Given the description of an element on the screen output the (x, y) to click on. 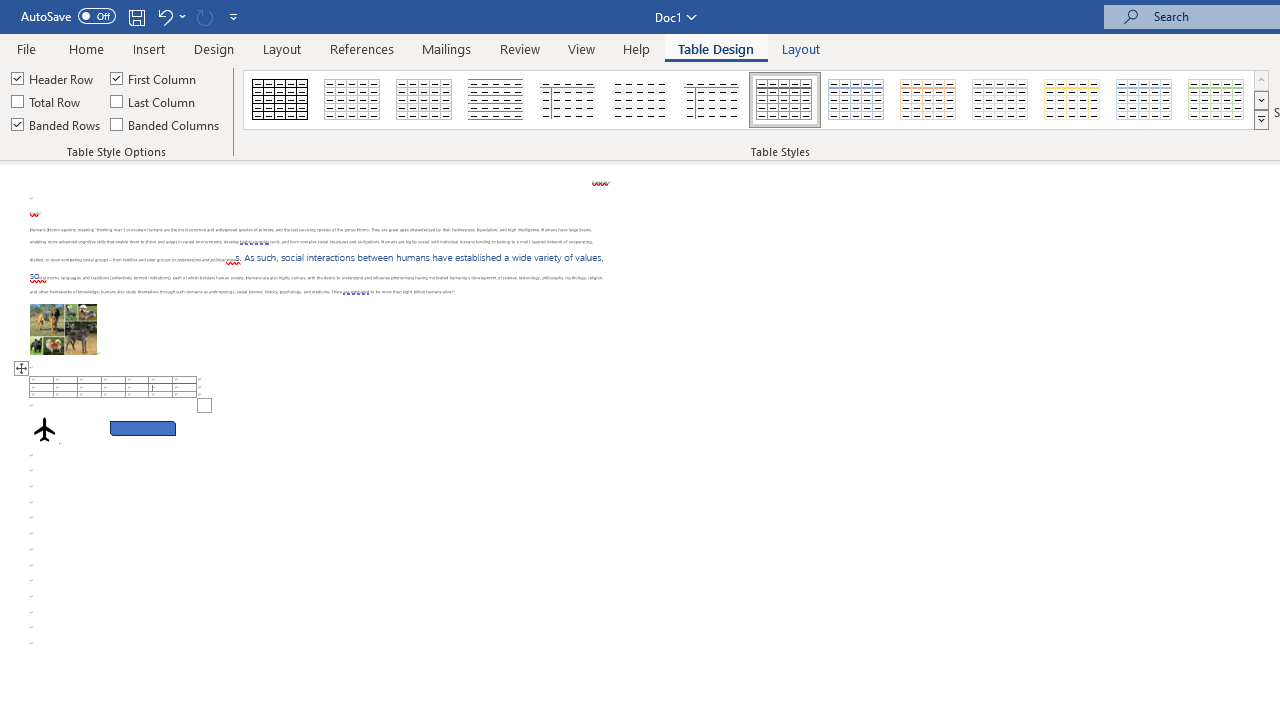
Grid Table 1 Light - Accent 6 (1217, 100)
Airplane with solid fill (43, 429)
Table Design (715, 48)
AutomationID: TableStylesGalleryWord (756, 99)
Table Styles (1261, 120)
Banded Columns (166, 124)
Grid Table 1 Light - Accent 5 (1144, 100)
Grid Table 1 Light - Accent 2 (929, 100)
Grid Table 1 Light - Accent 4 (1072, 100)
Grid Table 1 Light - Accent 3 (1000, 100)
